Given the description of an element on the screen output the (x, y) to click on. 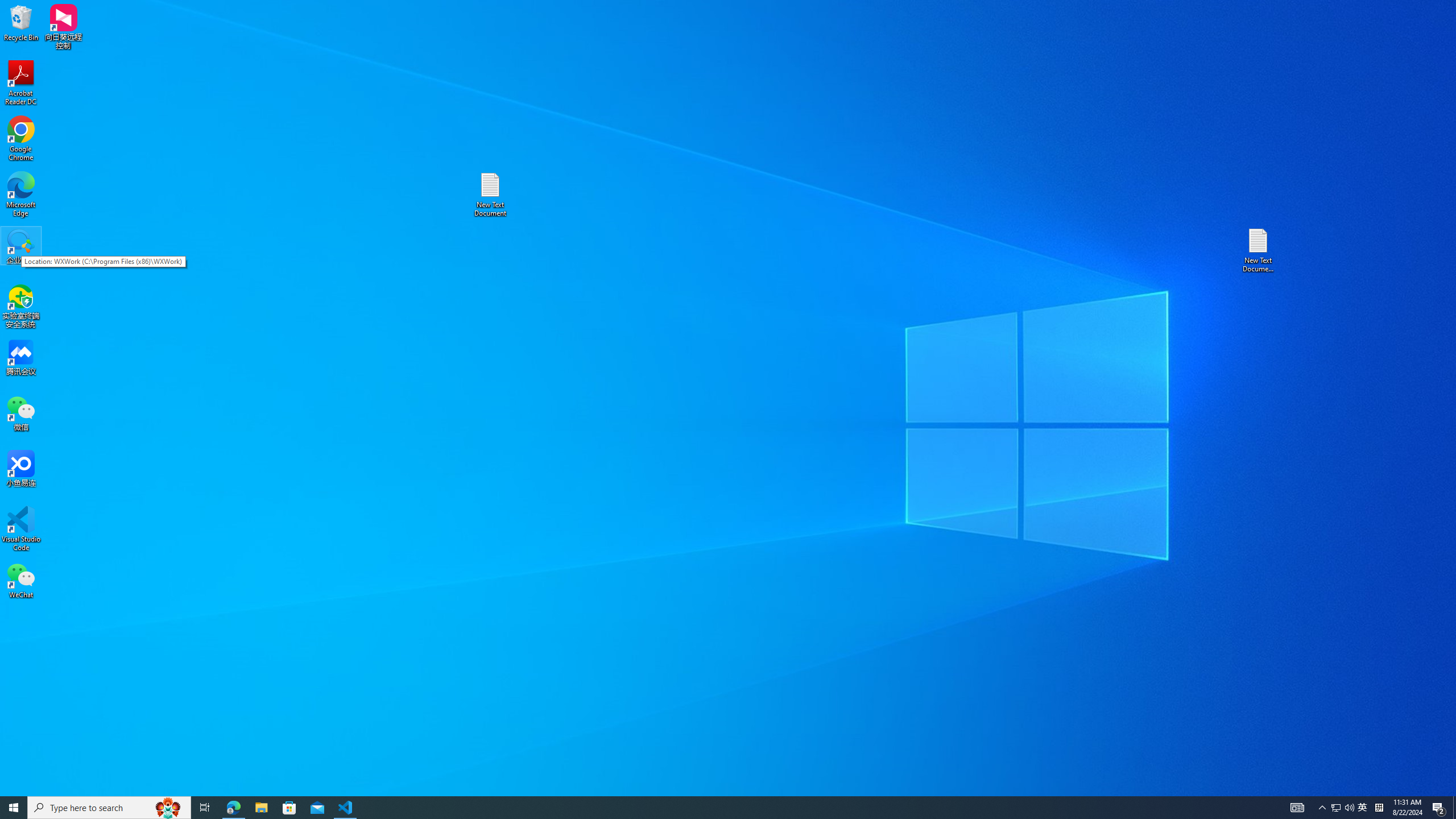
Google Chrome (21, 138)
